Given the description of an element on the screen output the (x, y) to click on. 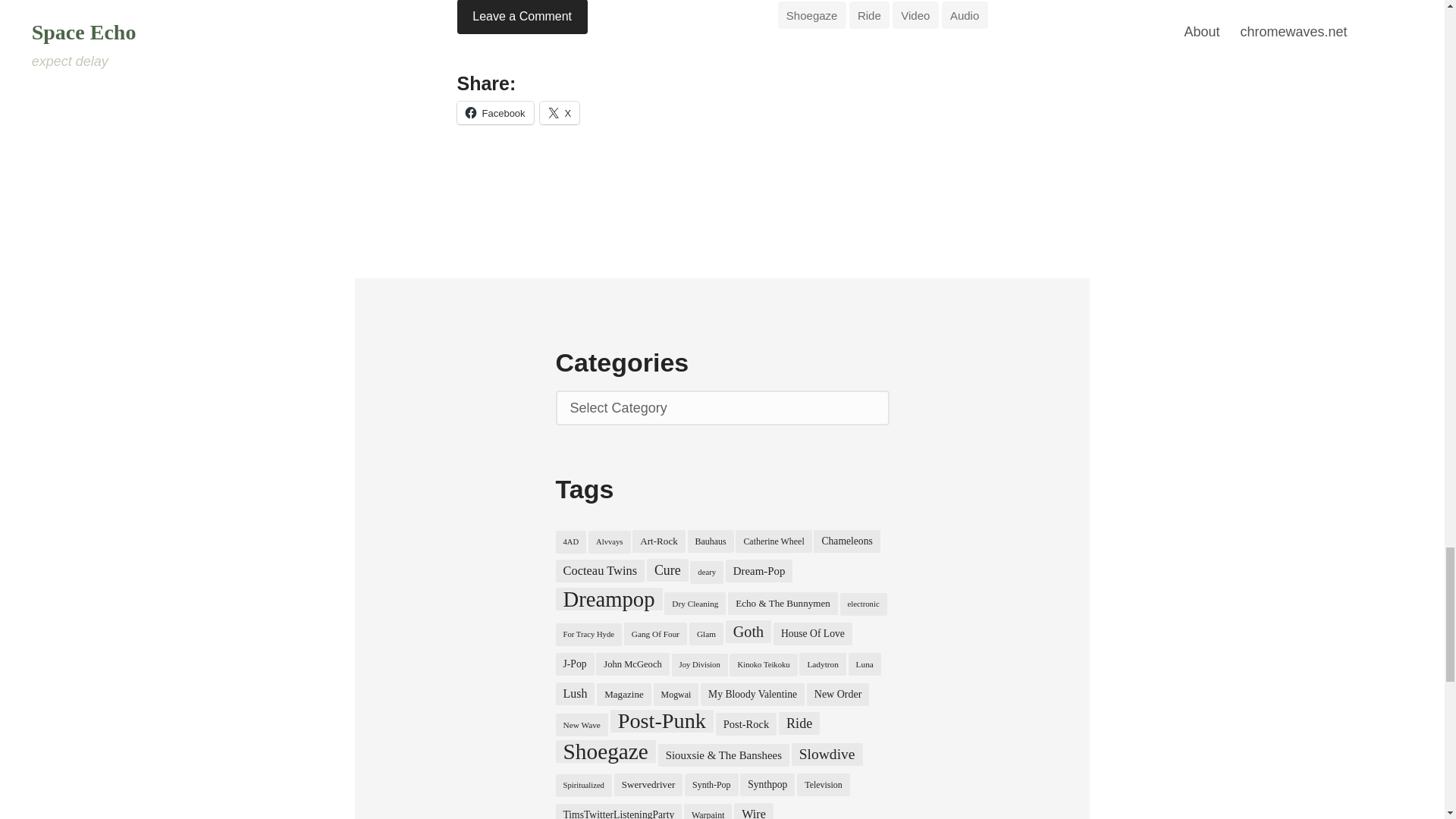
Catherine Wheel (772, 540)
Click to share on Facebook (494, 112)
Cure (667, 569)
deary (706, 572)
Facebook (494, 112)
Leave a Comment (521, 17)
Cocteau Twins (599, 570)
Bauhaus (710, 540)
Audio (965, 14)
Ride (868, 14)
